Given the description of an element on the screen output the (x, y) to click on. 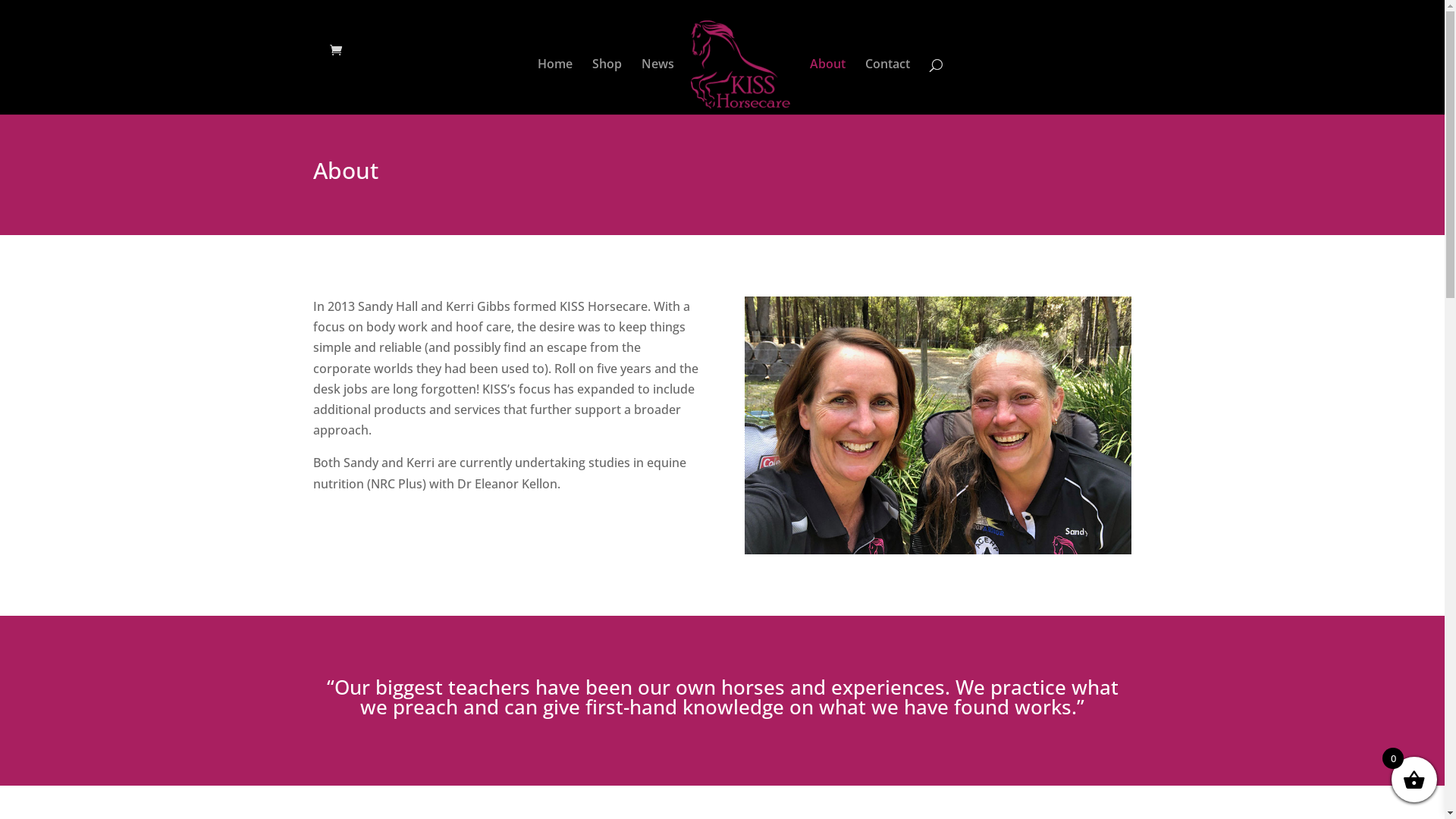
Contact Element type: text (887, 86)
News Element type: text (657, 86)
Home Element type: text (554, 86)
Shop Element type: text (606, 86)
About Element type: text (827, 86)
